Given the description of an element on the screen output the (x, y) to click on. 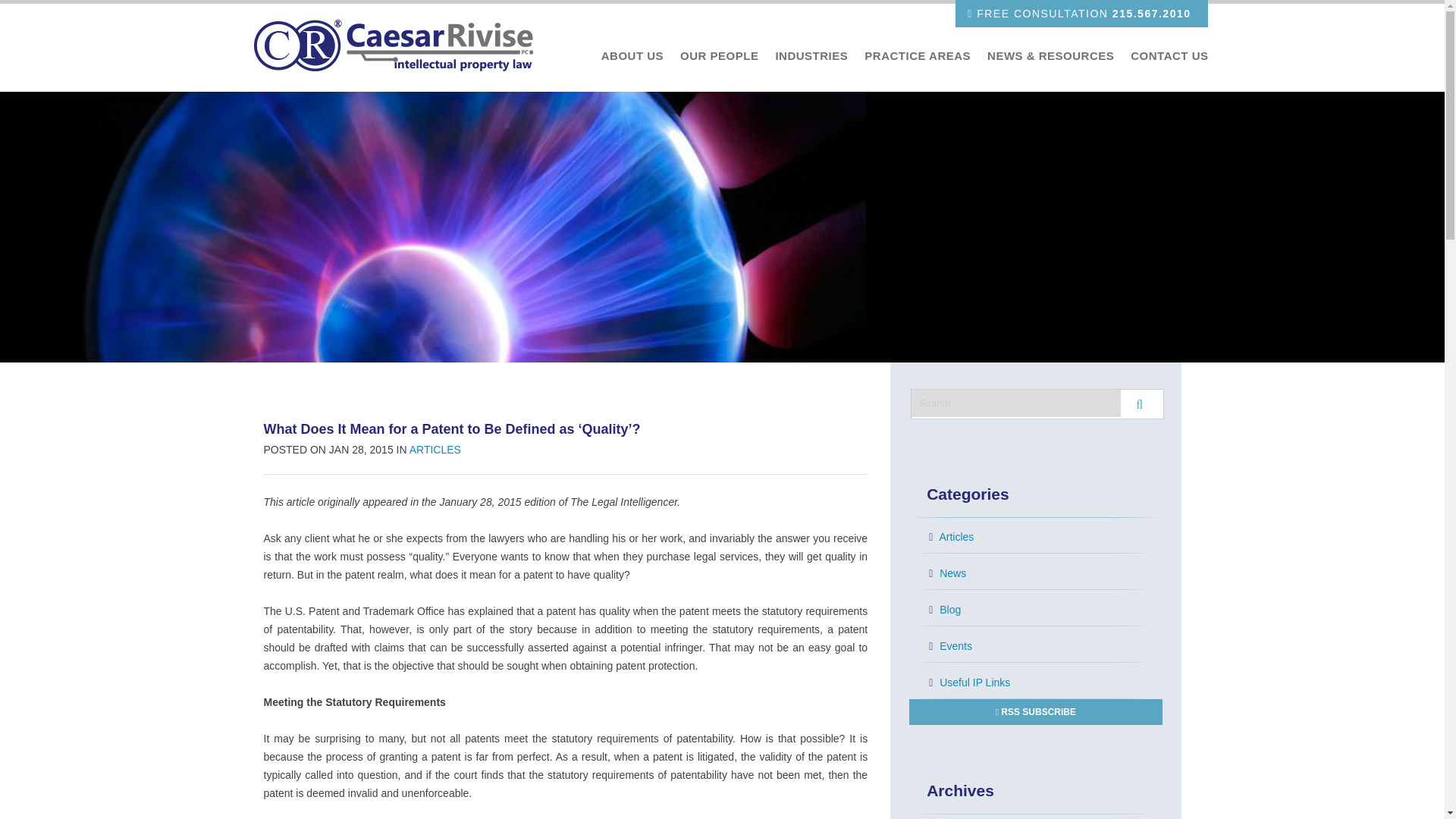
ARTICLES (435, 449)
Caesar Rivise, PC (398, 47)
News (1044, 573)
INDUSTRIES (811, 56)
Blog (1044, 609)
Useful IP Links (1044, 682)
Caesar Rivise, PC (398, 47)
Events (1044, 646)
CONTACT US (1168, 56)
Articles (1044, 536)
RSS SUBSCRIBE (1034, 711)
OUR PEOPLE (719, 56)
ABOUT US (631, 56)
